Given the description of an element on the screen output the (x, y) to click on. 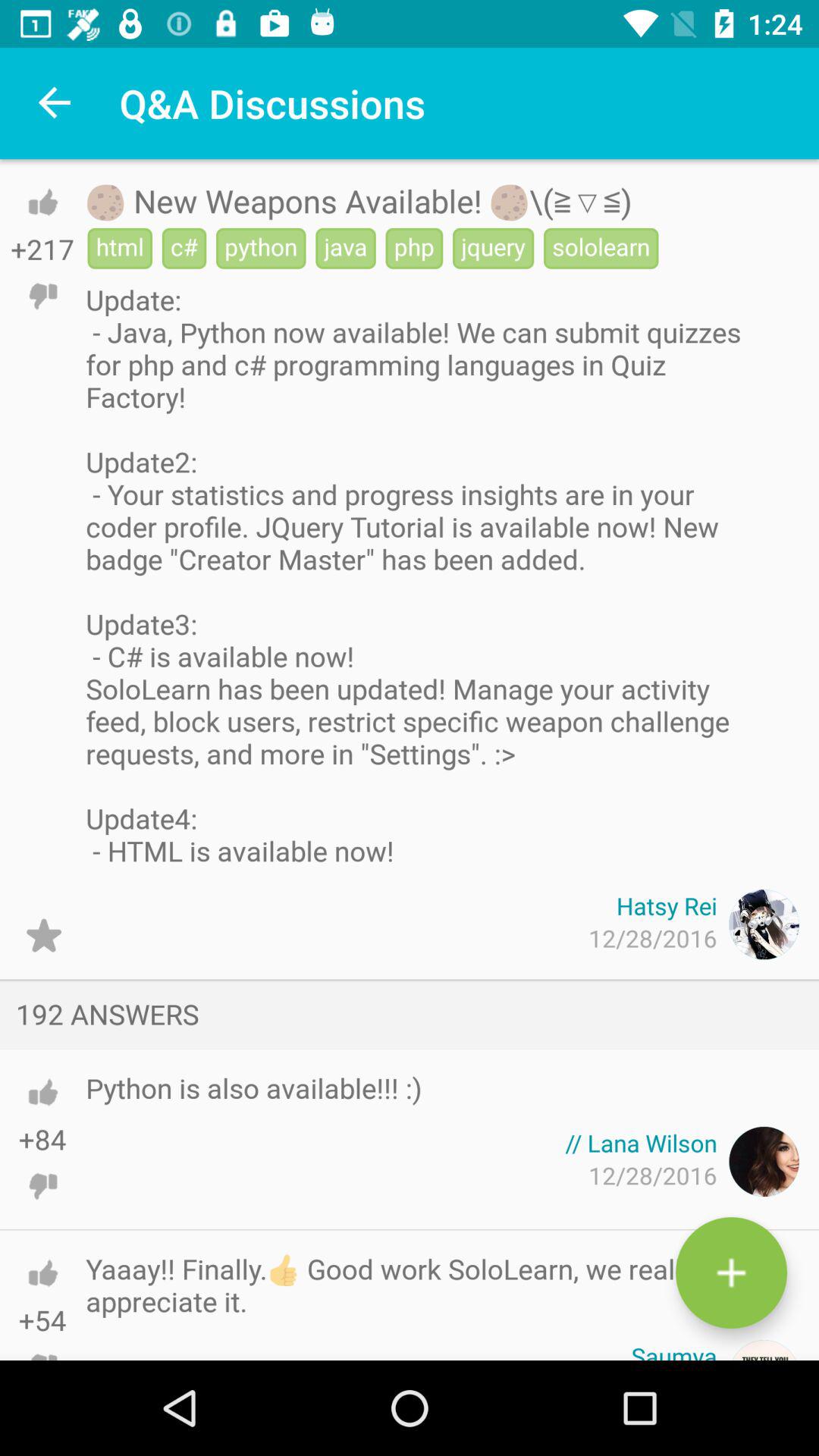
dislike post (42, 296)
